Given the description of an element on the screen output the (x, y) to click on. 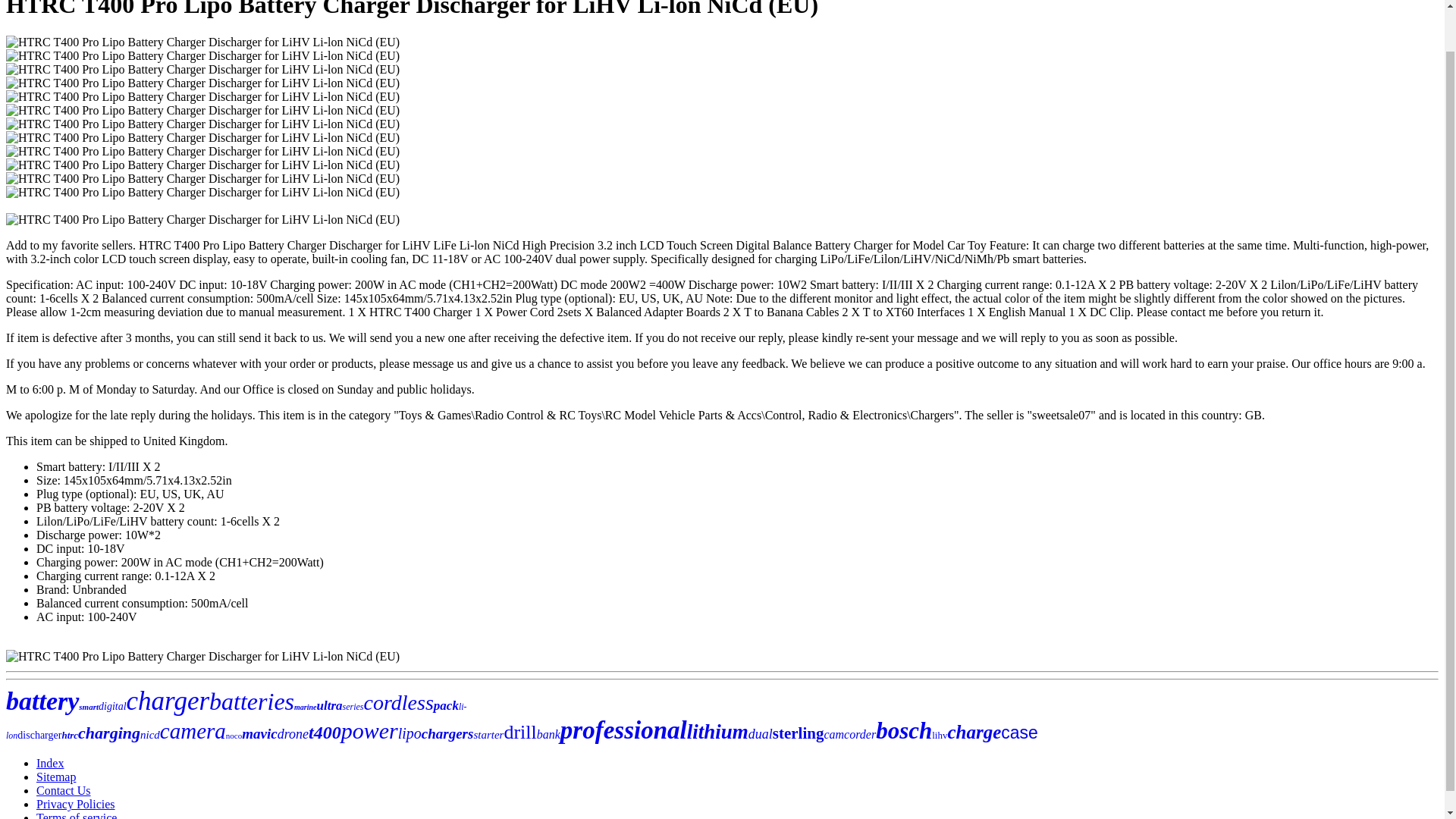
professional (623, 729)
nicd (149, 734)
li-lon (236, 721)
t400 (324, 732)
cordless (398, 702)
series (353, 706)
drill (519, 731)
smart (88, 706)
chargers (448, 733)
batteries (251, 700)
power (368, 730)
drone (293, 734)
lithium (717, 731)
starter (488, 734)
digital (112, 706)
